Given the description of an element on the screen output the (x, y) to click on. 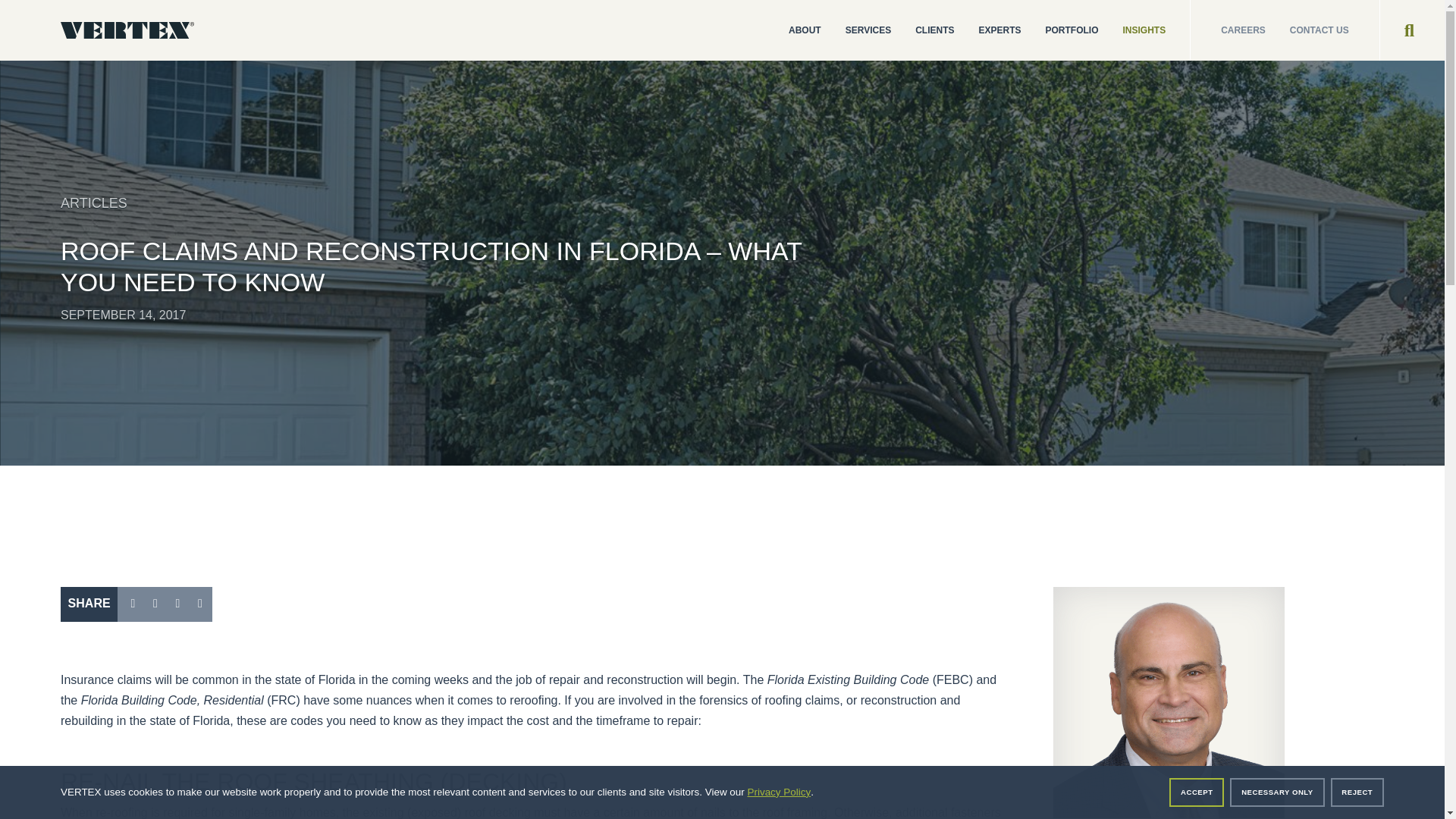
VERTEX (127, 30)
VERTEX (127, 30)
CAREERS (1227, 30)
CONTACT US (1335, 30)
Privacy Policy (778, 792)
